Given the description of an element on the screen output the (x, y) to click on. 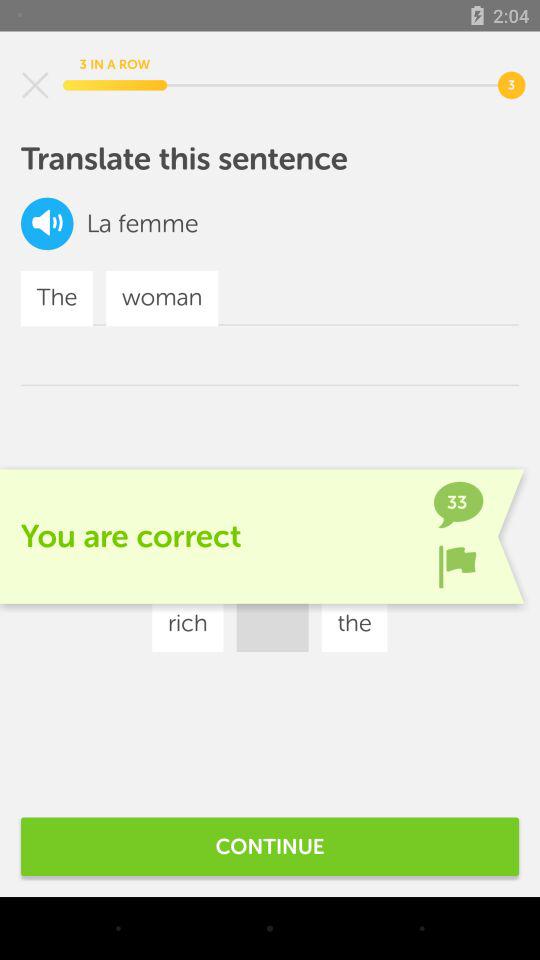
close screen (35, 85)
